Given the description of an element on the screen output the (x, y) to click on. 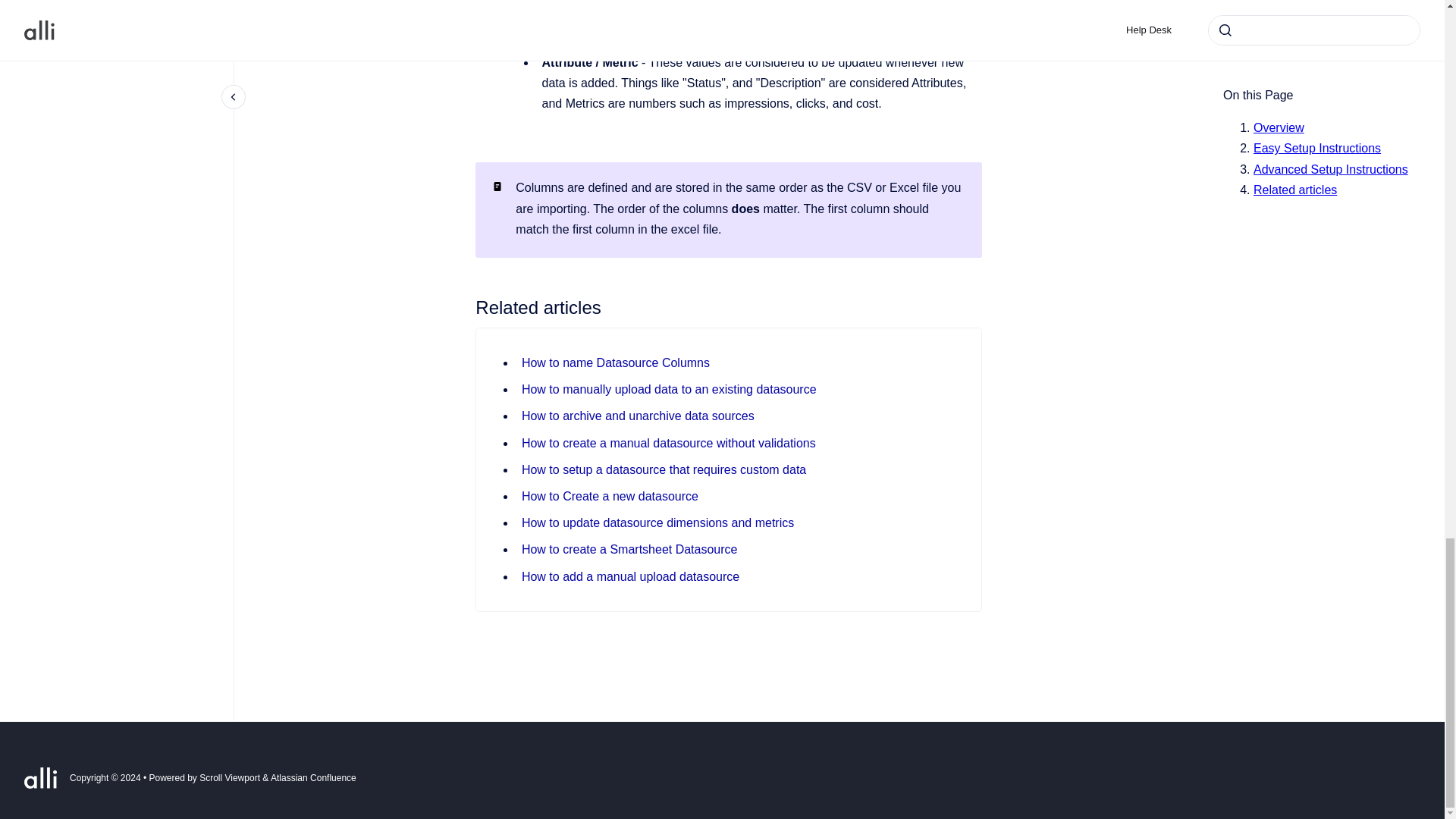
How to archive and unarchive data sources (637, 415)
Atlassian Confluence (313, 777)
How to Create a new datasource (609, 495)
How to add a manual upload datasource (630, 576)
How to name Datasource Columns (615, 362)
How to create a Smartsheet Datasource (629, 549)
How to update datasource dimensions and metrics (657, 522)
Scroll Viewport (230, 777)
How to setup a datasource that requires custom data (663, 469)
How to manually upload data to an existing datasource (668, 389)
